Given the description of an element on the screen output the (x, y) to click on. 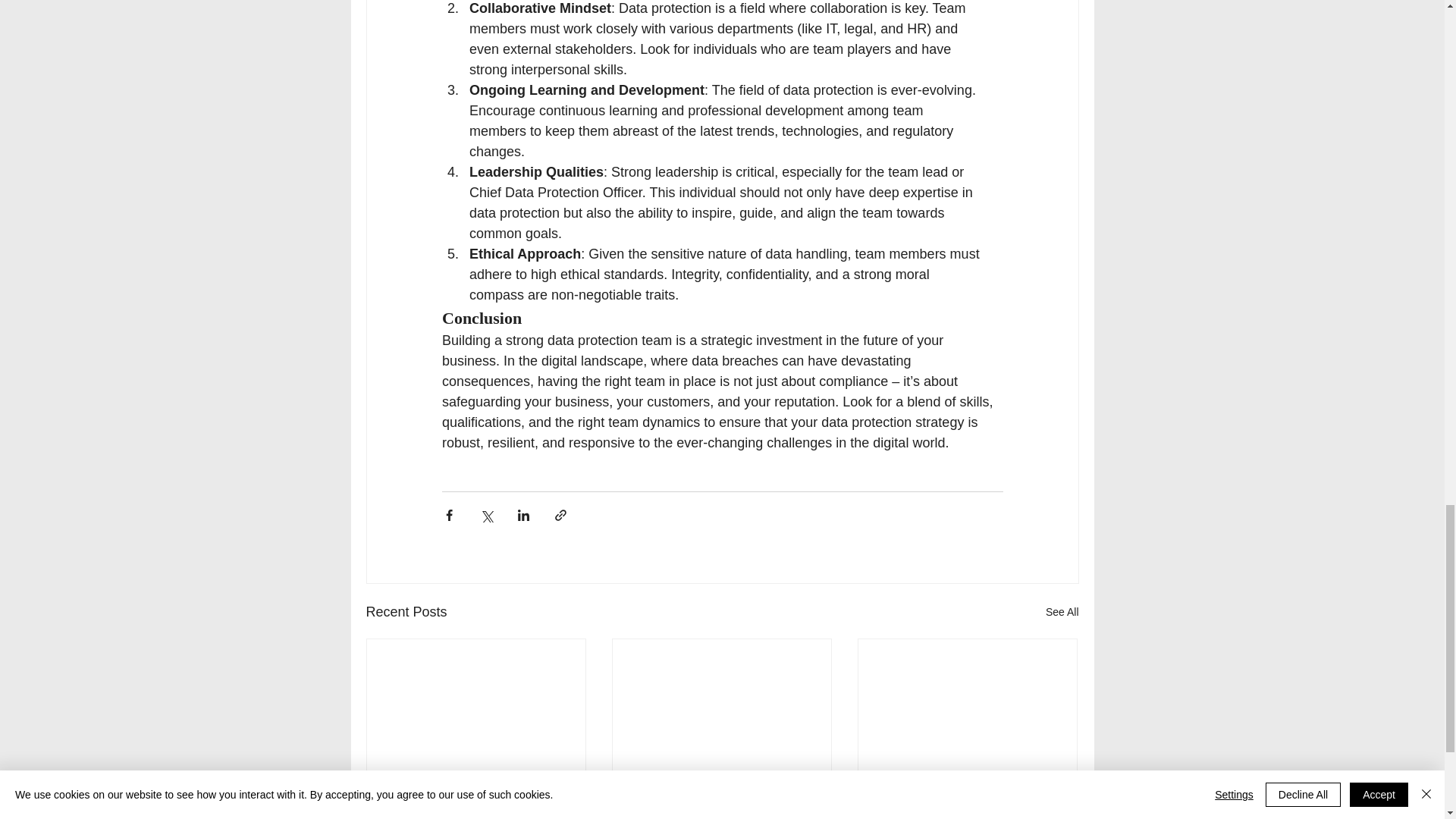
Social Media and GDPR: Navigating Personal Data Management (721, 796)
See All (1061, 612)
Integrating GDPR Compliance into Your Website Design (476, 796)
